Given the description of an element on the screen output the (x, y) to click on. 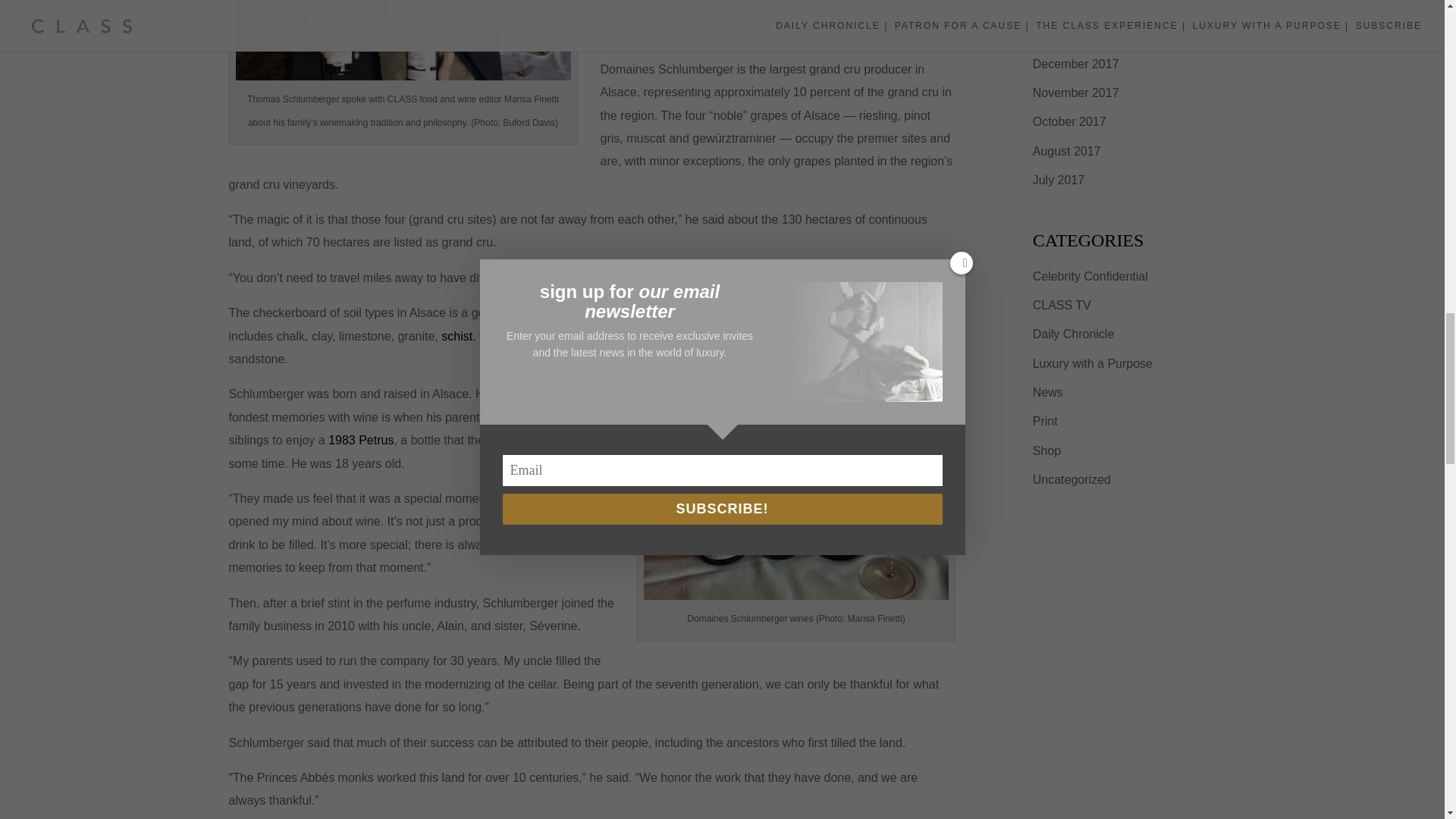
1983 Petrus (361, 440)
schist (456, 336)
